Given the description of an element on the screen output the (x, y) to click on. 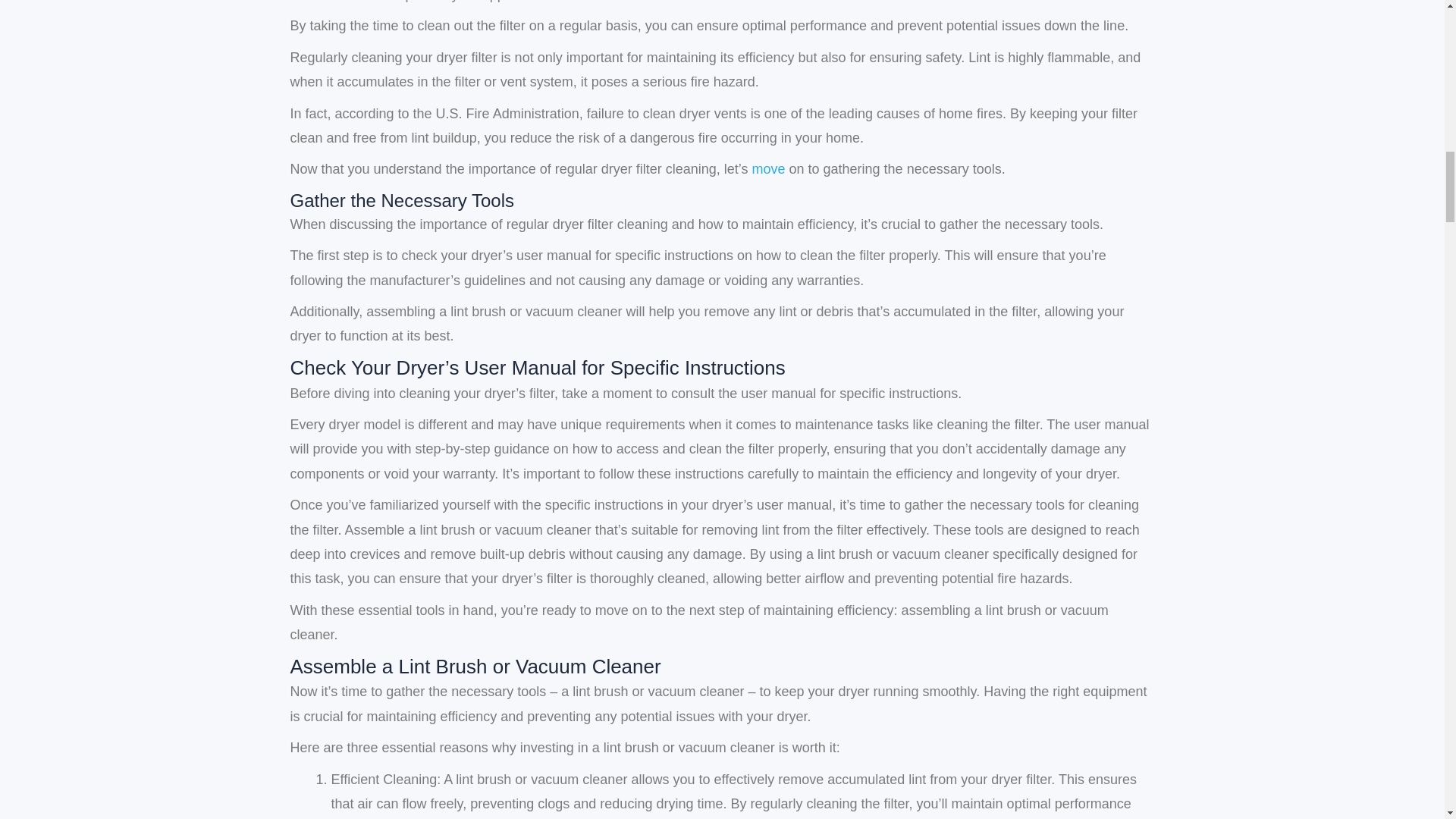
move (769, 168)
